Given the description of an element on the screen output the (x, y) to click on. 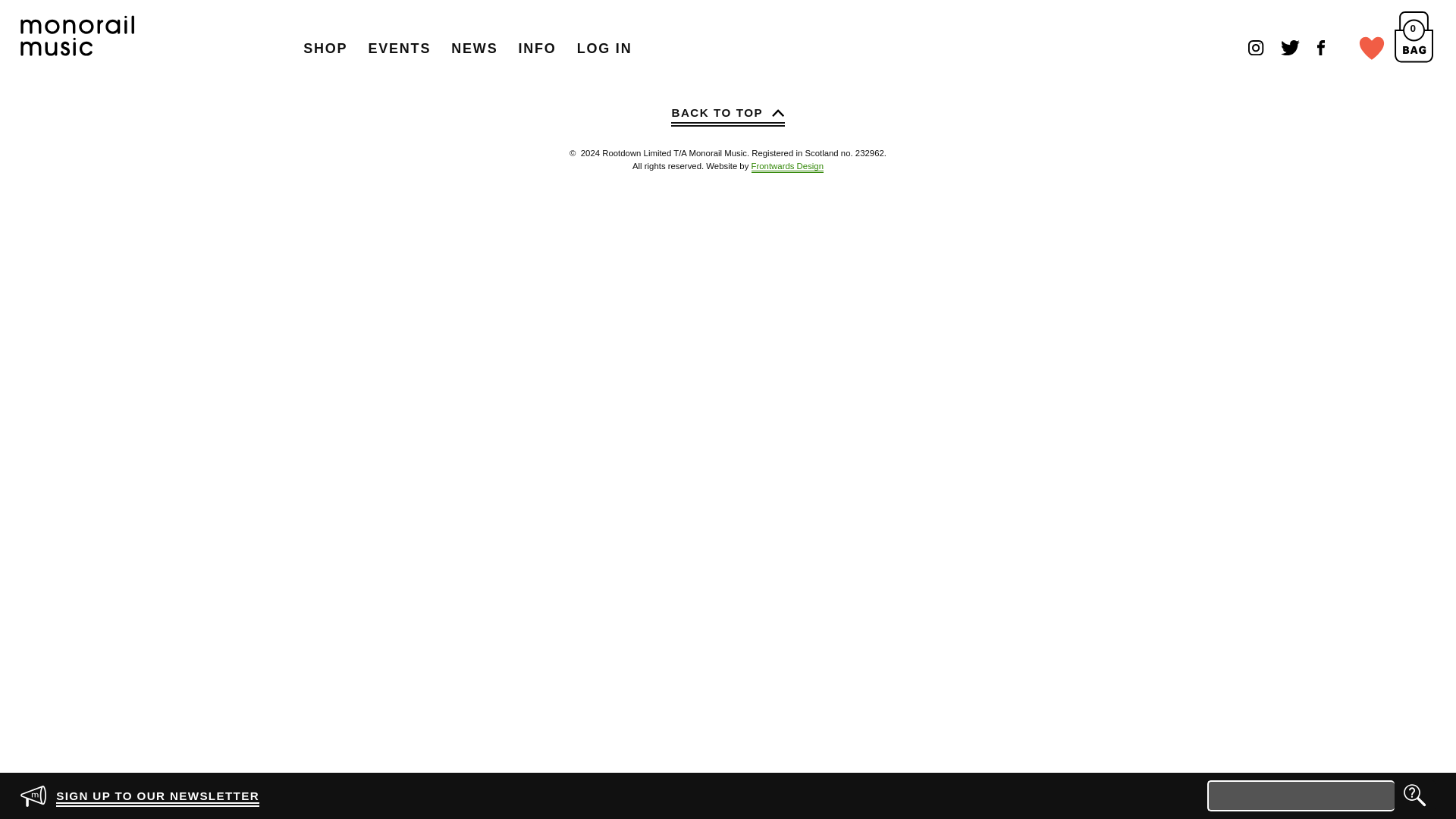
LOG IN (604, 48)
INFO (537, 48)
Monorail on Instagram (1255, 47)
BACK TO TOP (727, 115)
Monorail on Instagram (1255, 47)
Monorail on Twitter (1290, 47)
EVENTS (399, 48)
SHOP (326, 48)
Frontwards Design (787, 166)
NEWS (474, 48)
